Given the description of an element on the screen output the (x, y) to click on. 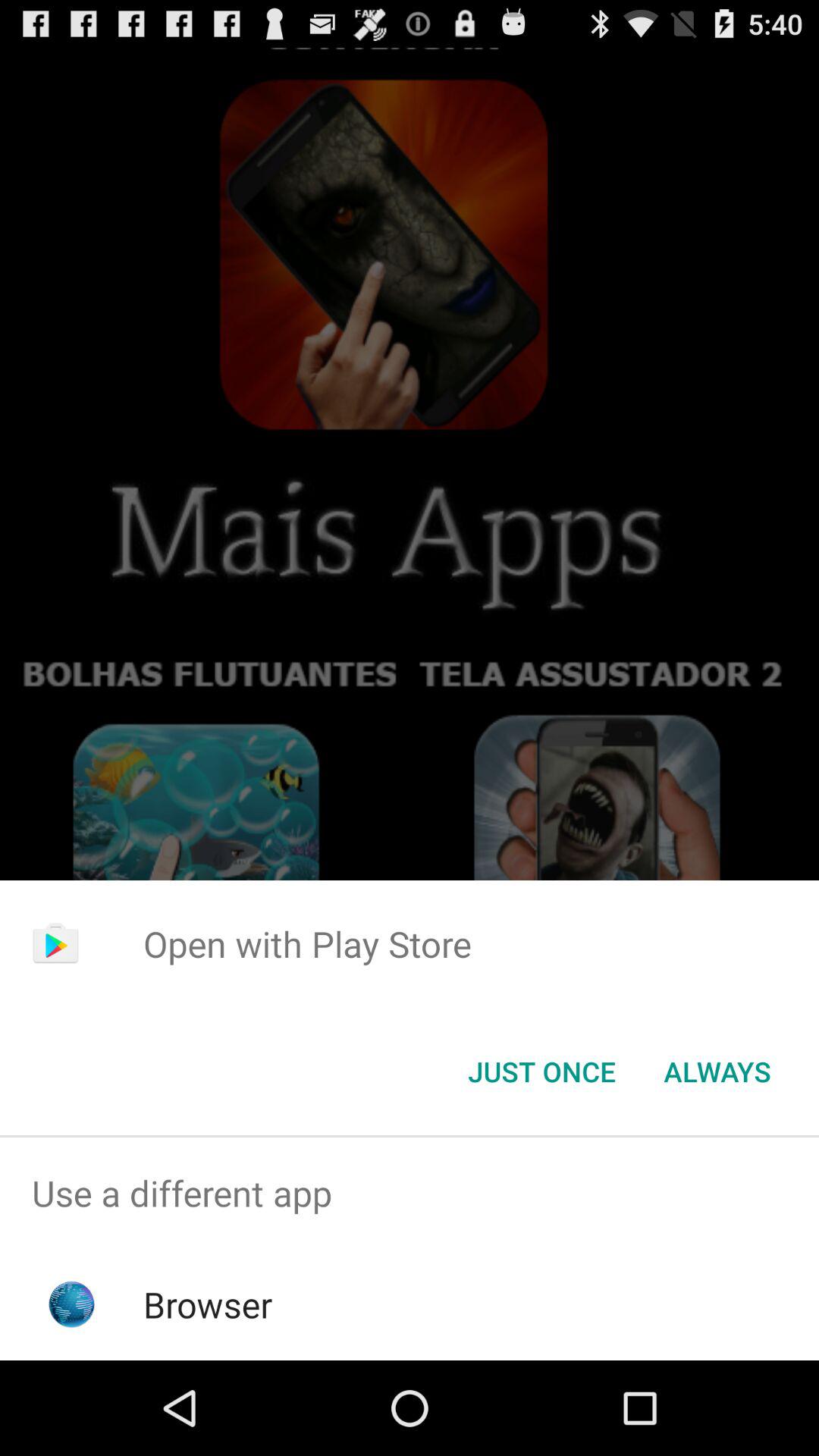
open item below use a different icon (207, 1304)
